Given the description of an element on the screen output the (x, y) to click on. 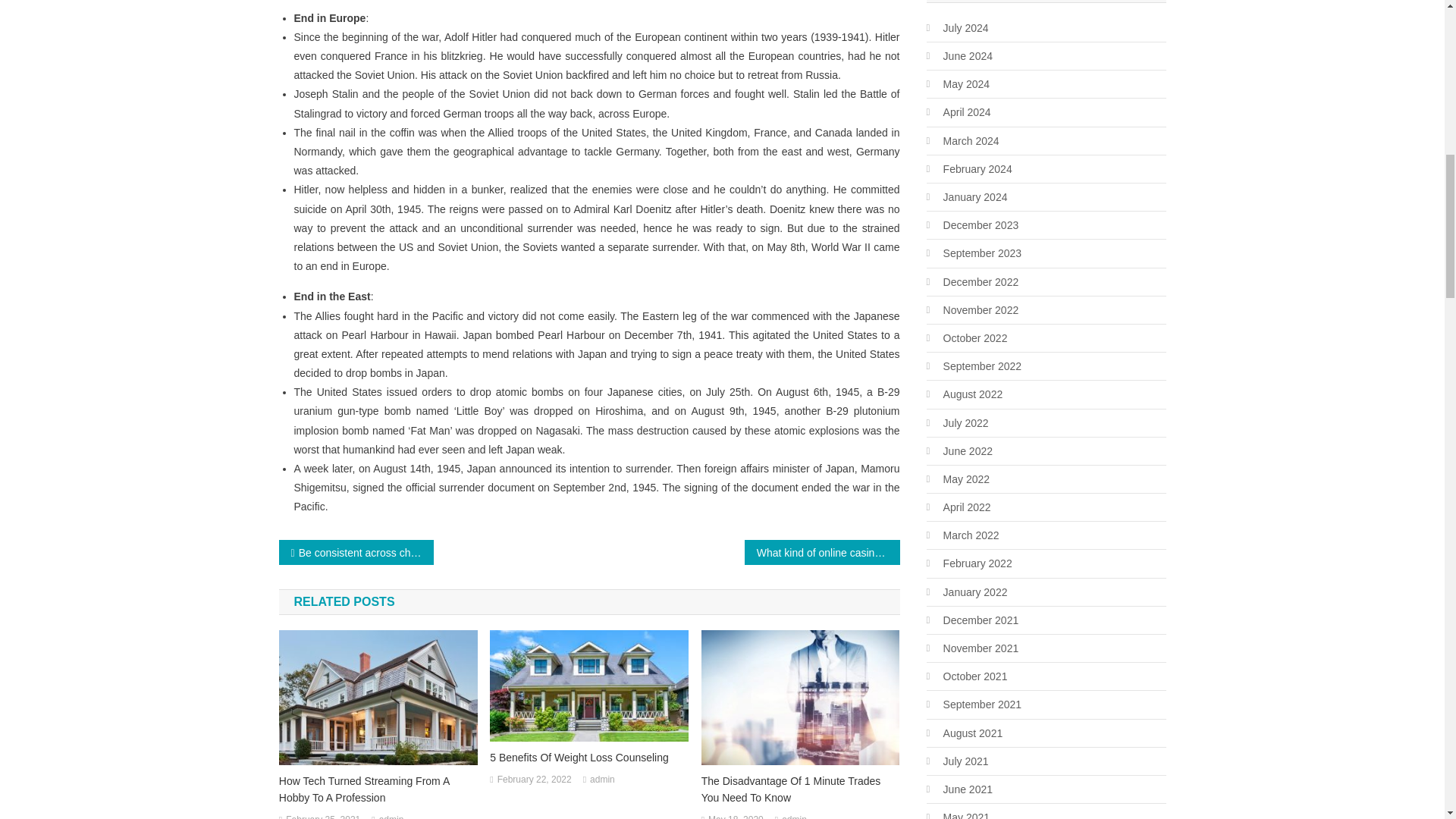
February 25, 2021 (322, 815)
How Tech Turned Streaming From A Hobby To A Profession (378, 789)
What kind of online casino industry offers payment methods? (821, 552)
The Disadvantage Of 1 Minute Trades You Need To Know (800, 789)
5 Benefits Of Weight Loss Counseling (588, 757)
May 18, 2020 (734, 815)
February 22, 2022 (534, 780)
admin (391, 815)
admin (601, 780)
admin (793, 815)
